Given the description of an element on the screen output the (x, y) to click on. 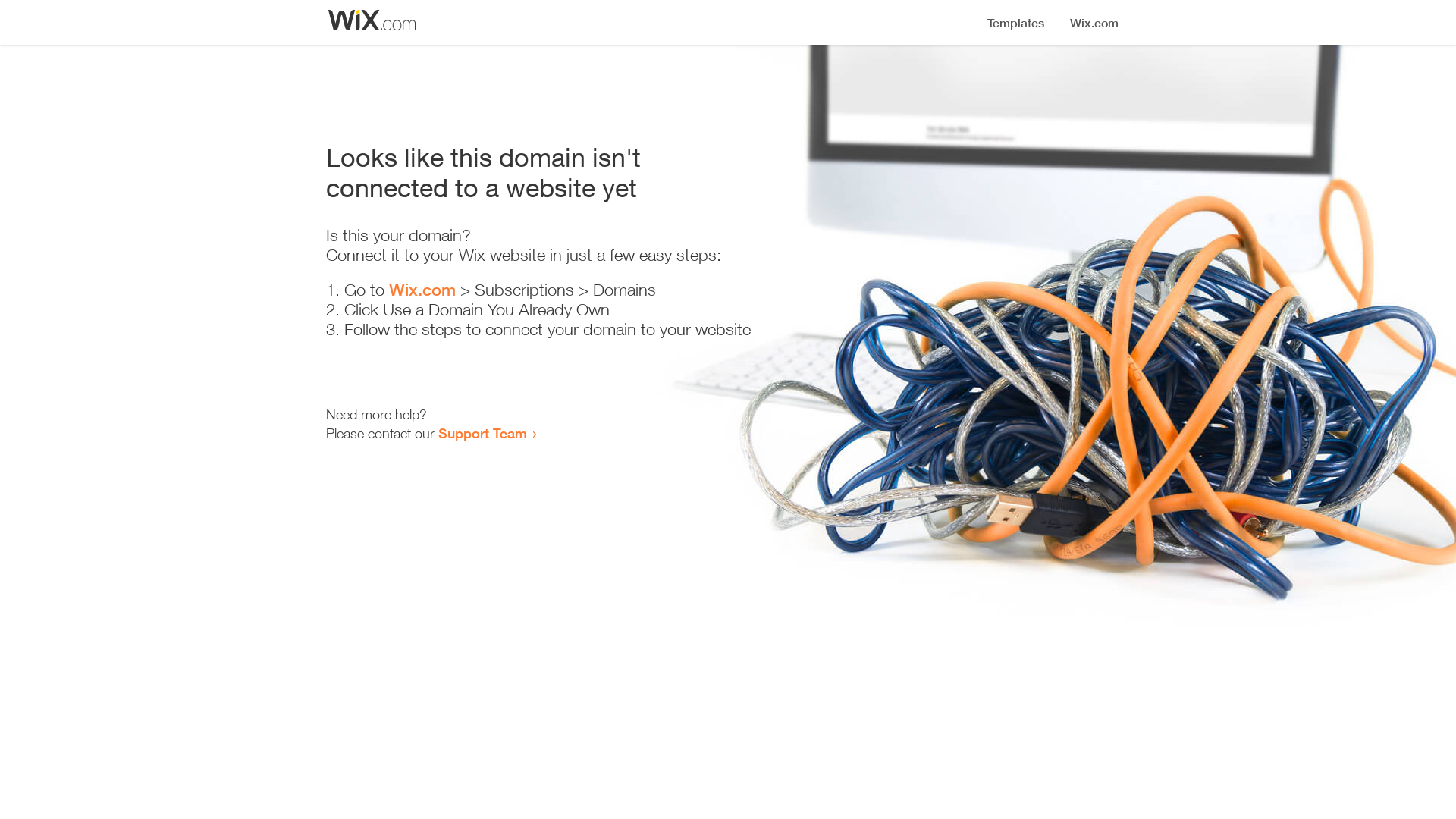
Support Team Element type: text (482, 432)
Wix.com Element type: text (422, 289)
